Given the description of an element on the screen output the (x, y) to click on. 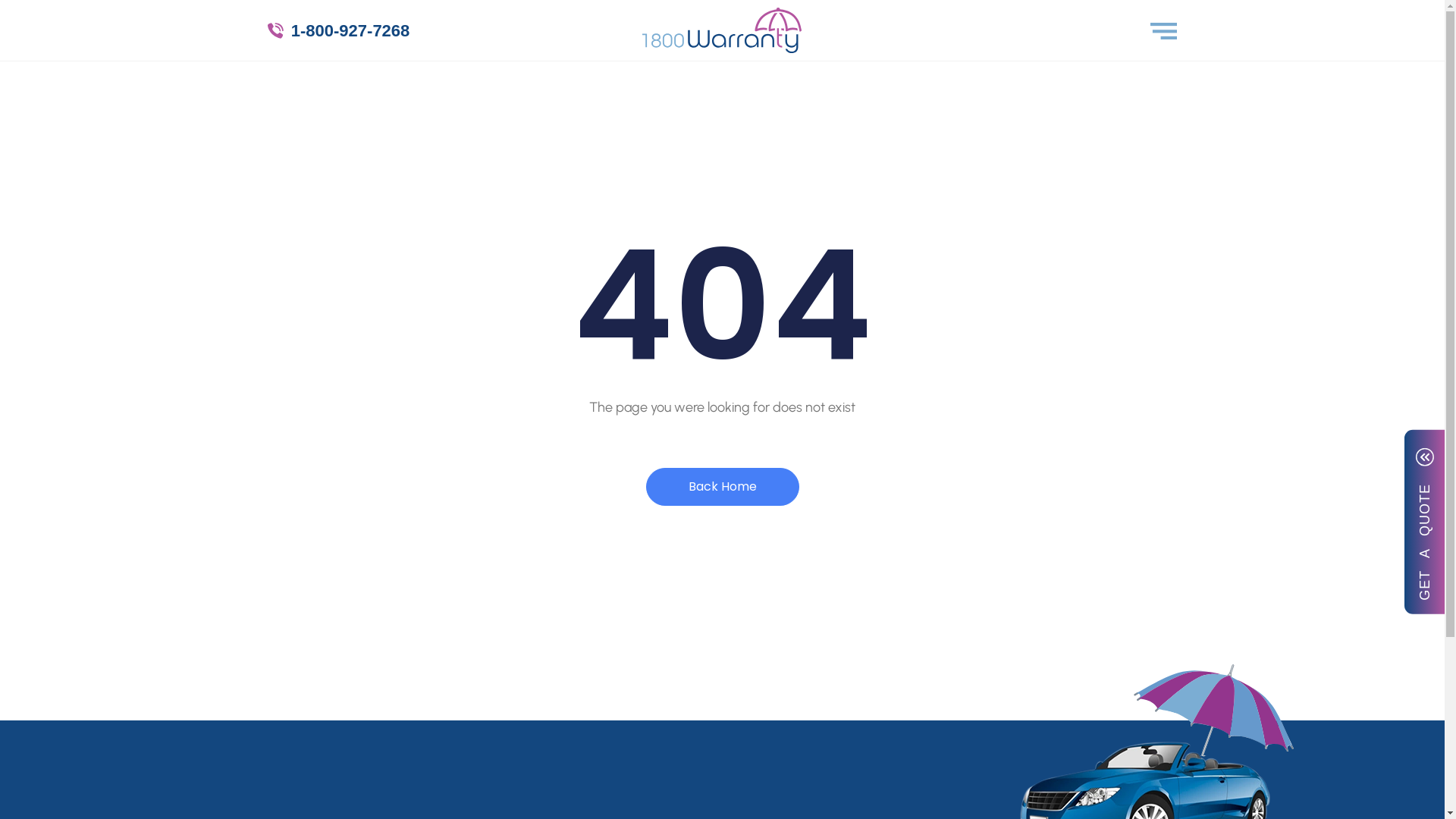
1-800-927-7268 Element type: text (418, 30)
Back Home Element type: text (722, 486)
GET A QUOTE Element type: text (1424, 521)
